Given the description of an element on the screen output the (x, y) to click on. 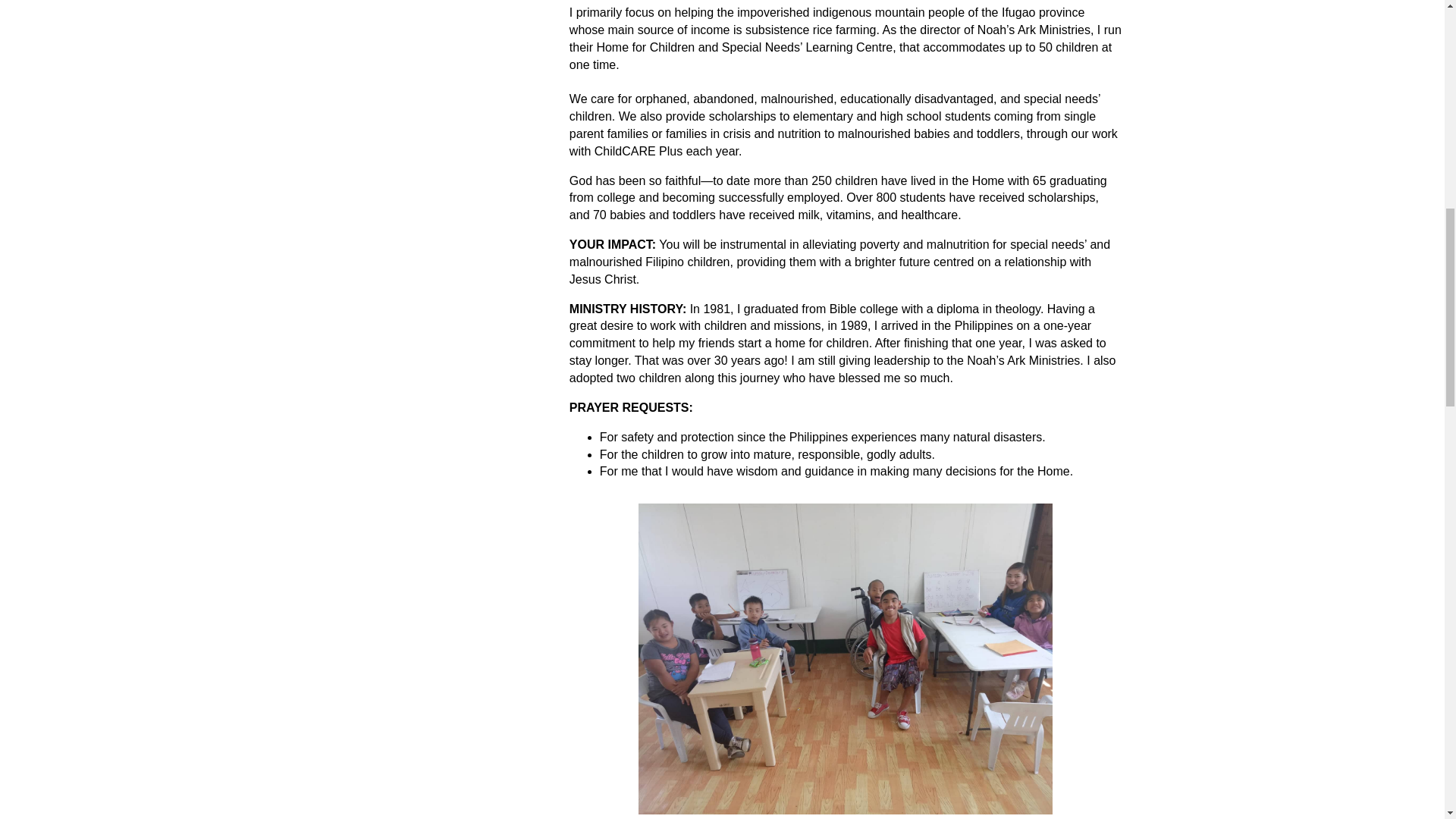
Special Need Learning Center (845, 658)
